Given the description of an element on the screen output the (x, y) to click on. 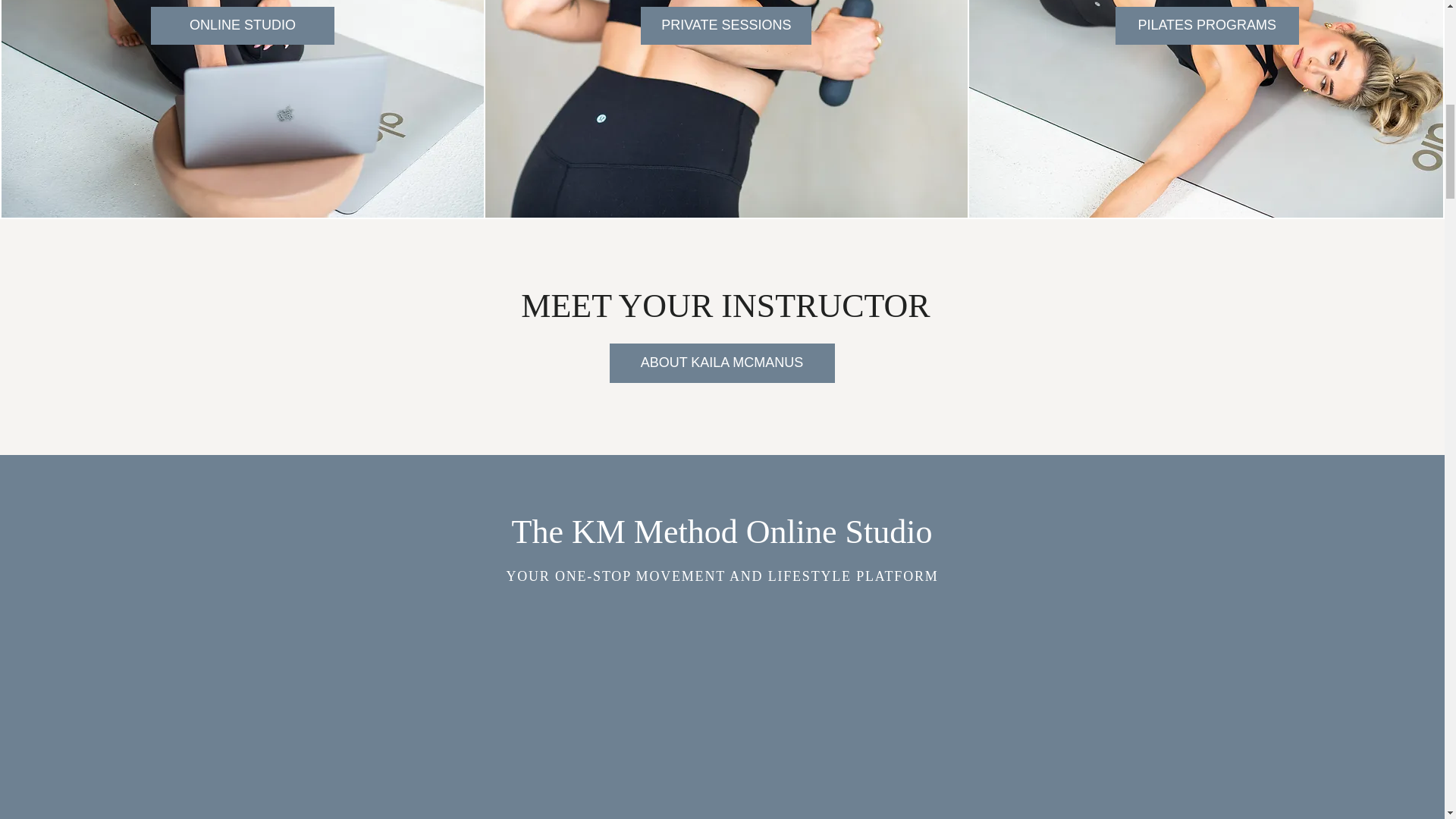
PRIVATE SESSIONS (725, 25)
PILATES PROGRAMS (1206, 25)
ONLINE STUDIO (242, 25)
ABOUT KAILA MCMANUS (722, 363)
